Given the description of an element on the screen output the (x, y) to click on. 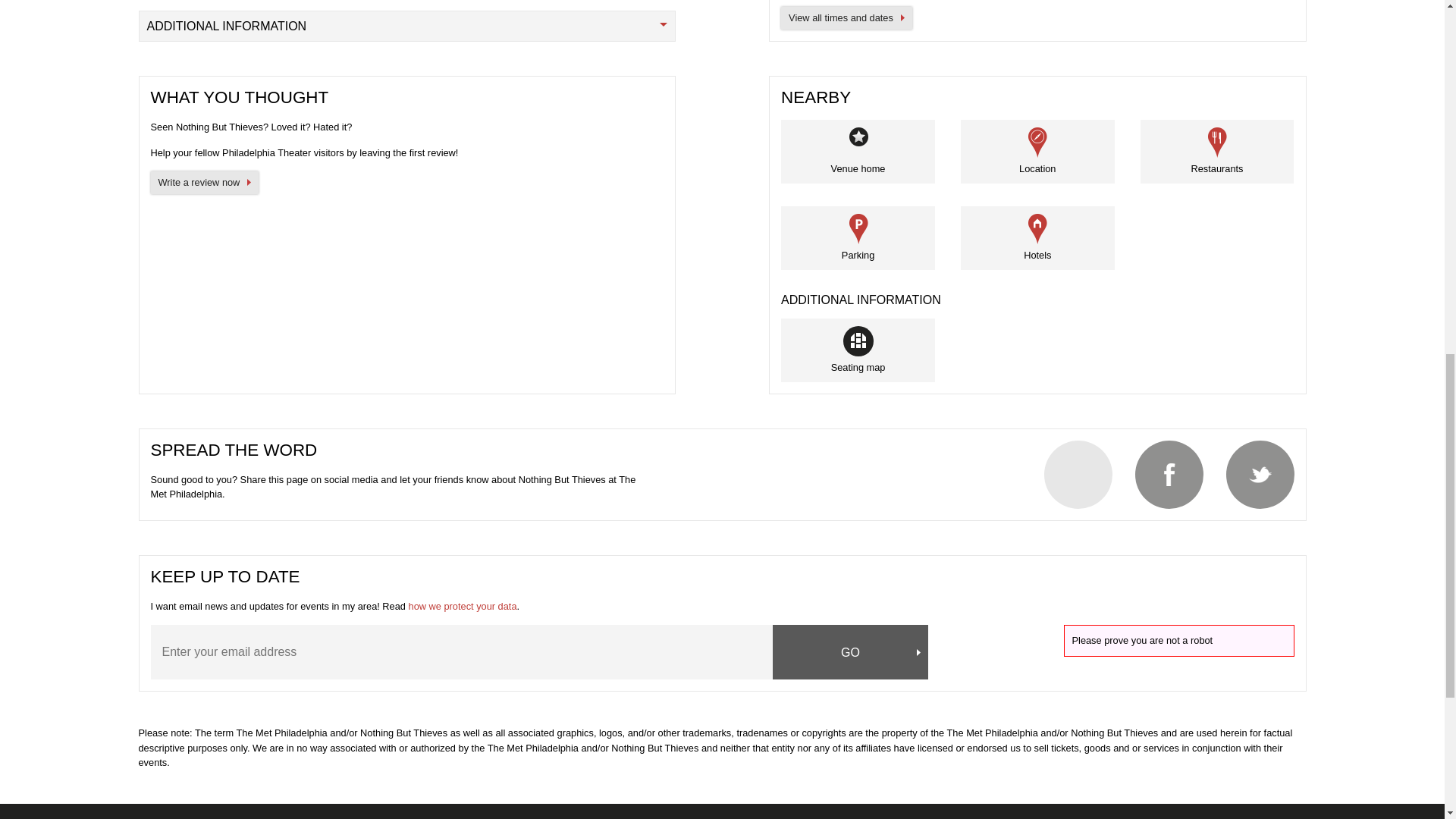
GO (850, 651)
